Given the description of an element on the screen output the (x, y) to click on. 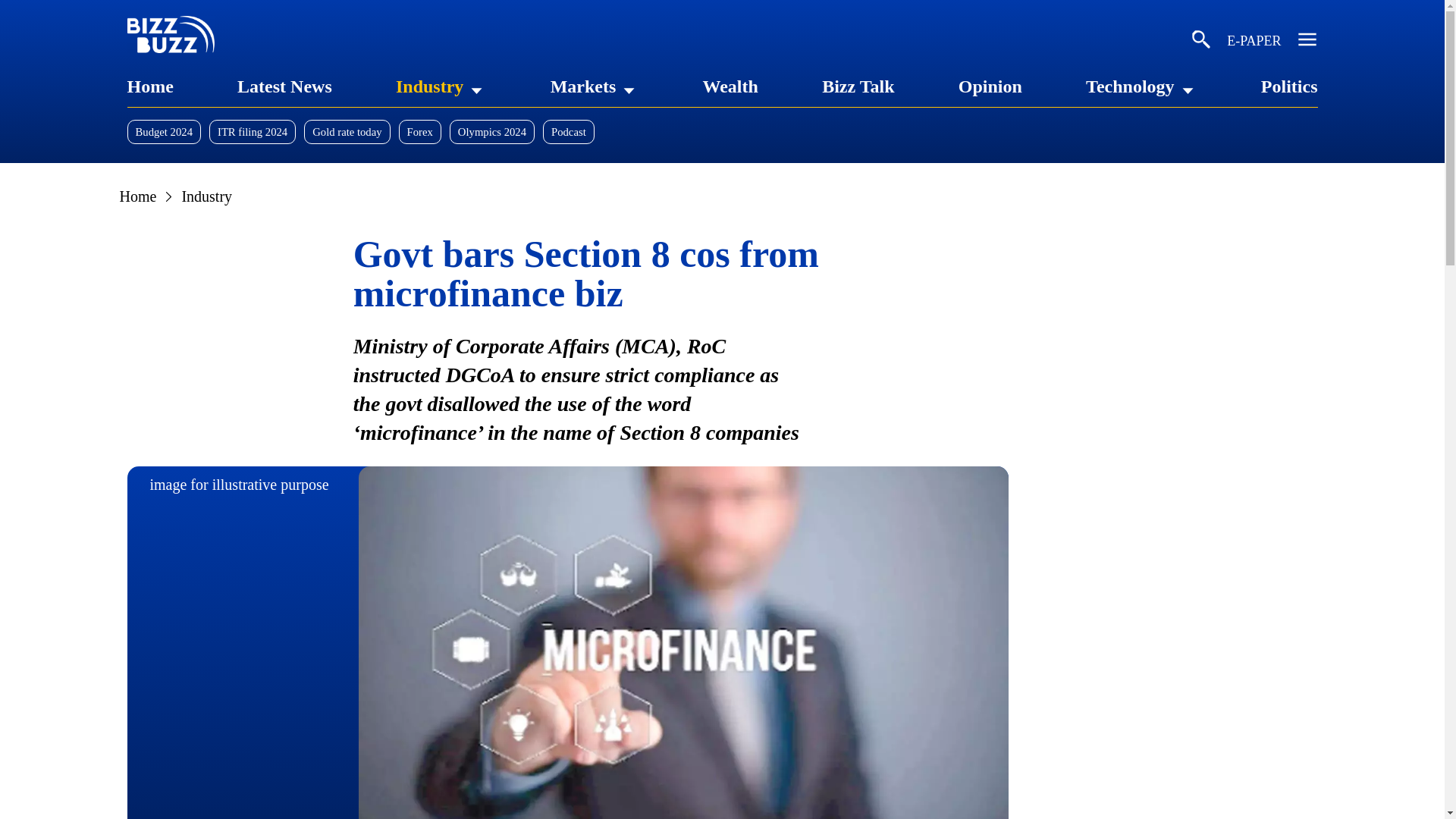
Bizz Talk (857, 86)
Wealth (730, 86)
Industry (429, 86)
Markets (582, 86)
E-PAPER (1254, 41)
Latest News (284, 86)
Home (150, 86)
